Given the description of an element on the screen output the (x, y) to click on. 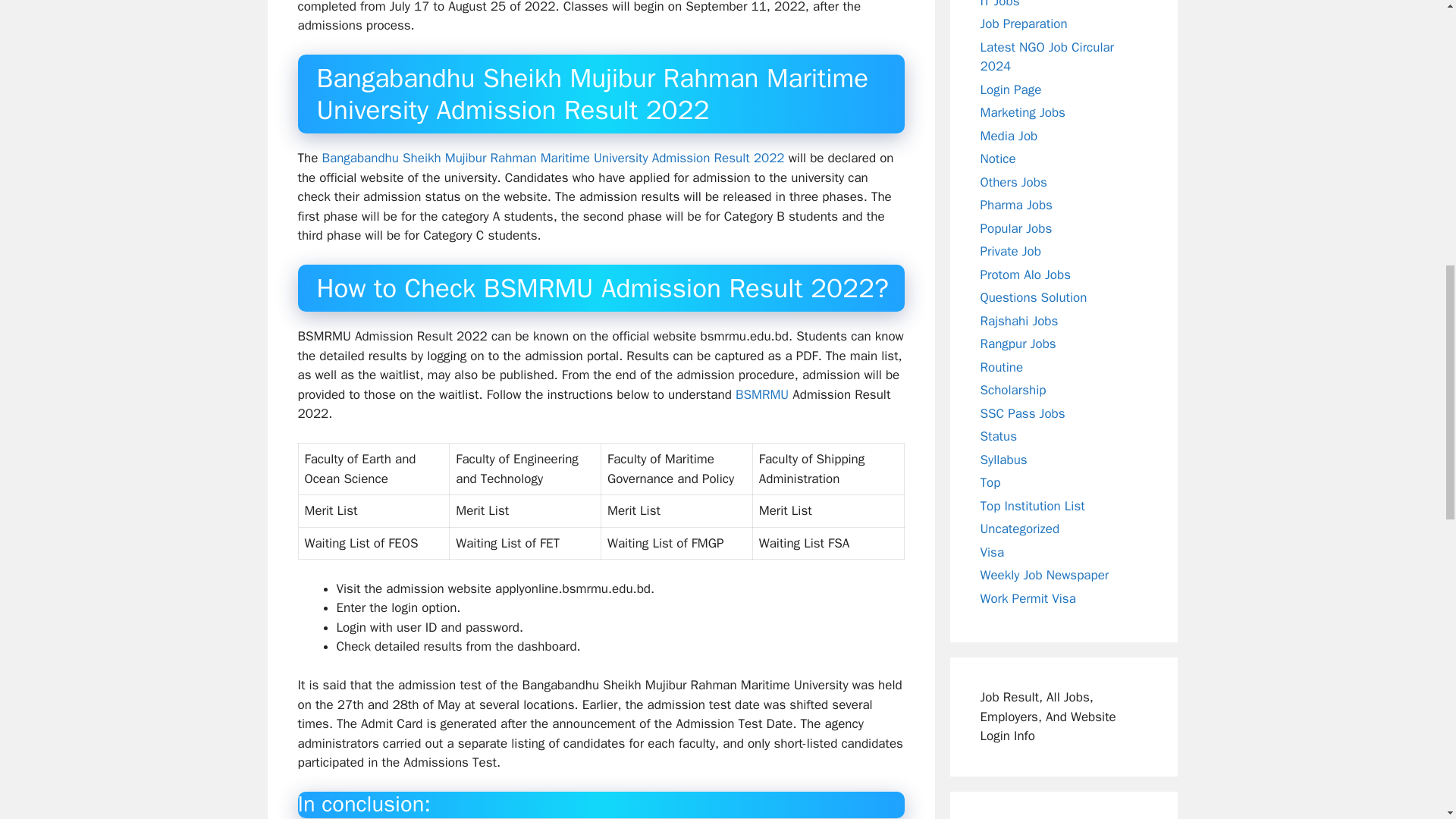
BSMRMU (762, 394)
